Given the description of an element on the screen output the (x, y) to click on. 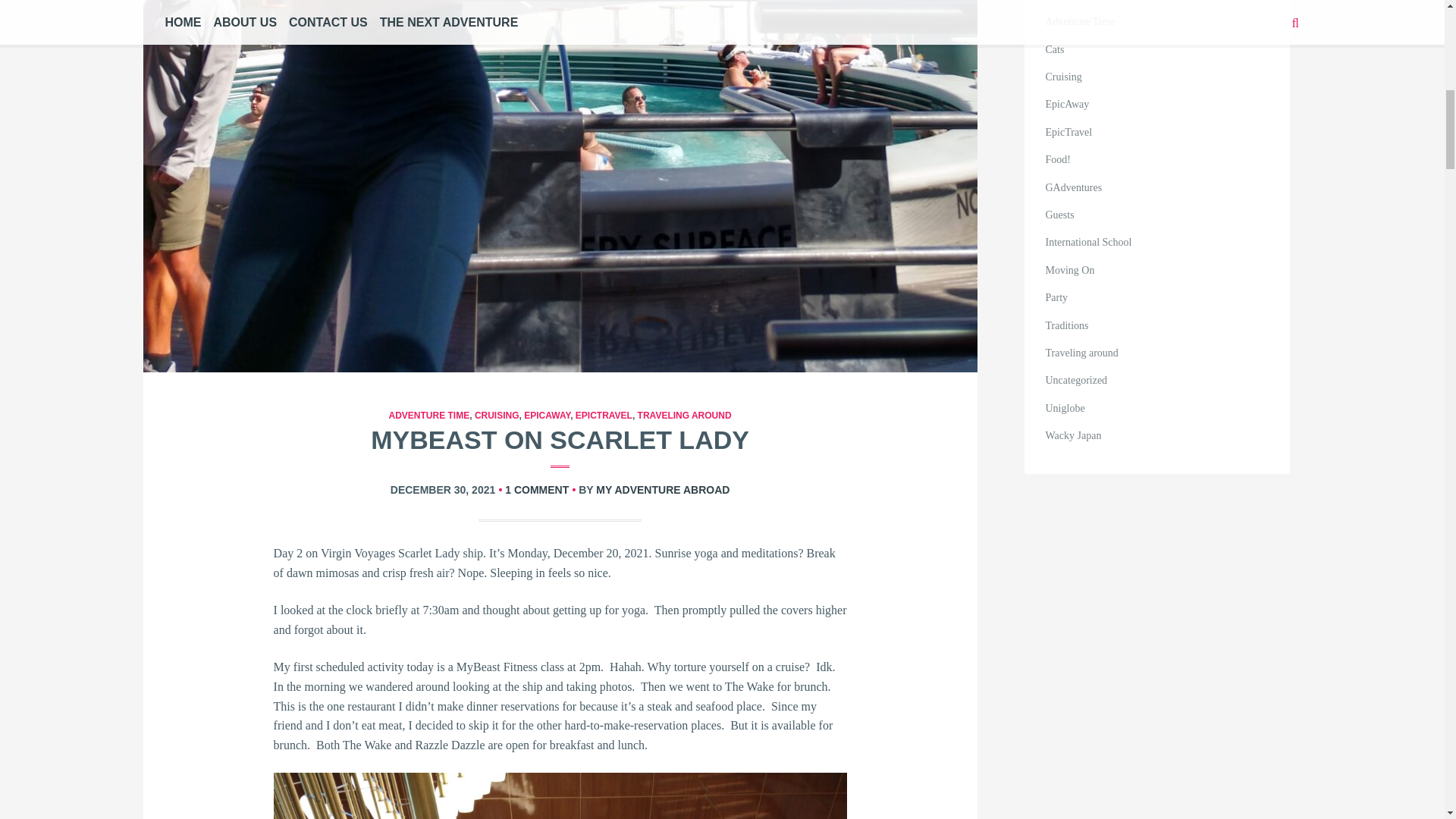
MY ADVENTURE ABROAD (662, 490)
ADVENTURE TIME (429, 415)
CRUISING (496, 415)
Posts by My Adventure Abroad (662, 490)
1 COMMENT (537, 490)
TRAVELING AROUND (684, 415)
EPICTRAVEL (603, 415)
EPICAWAY (547, 415)
